Given the description of an element on the screen output the (x, y) to click on. 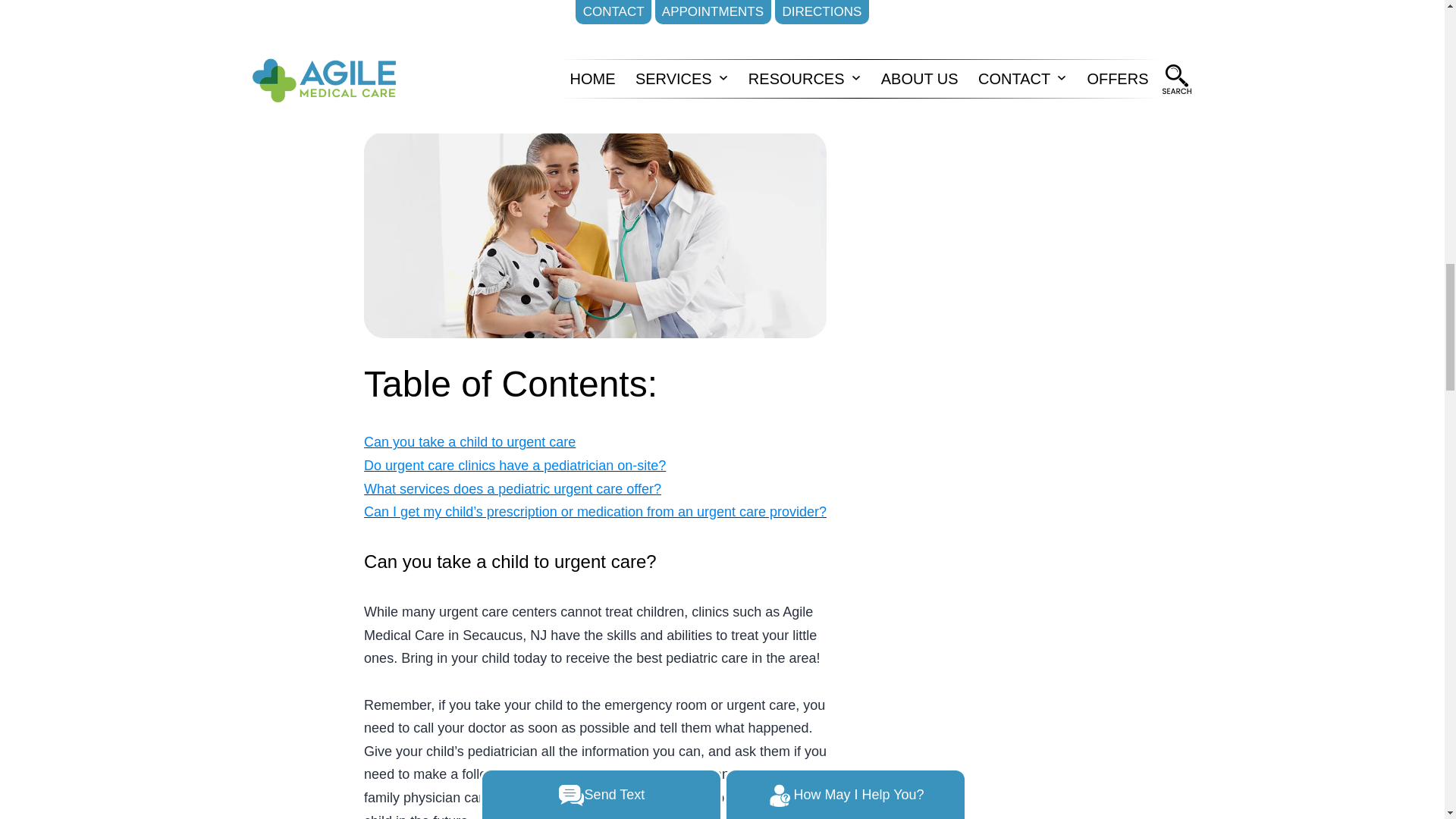
Pediatric Urgent Care Clinic Near Me In Secaucus, NJ  (595, 235)
